Given the description of an element on the screen output the (x, y) to click on. 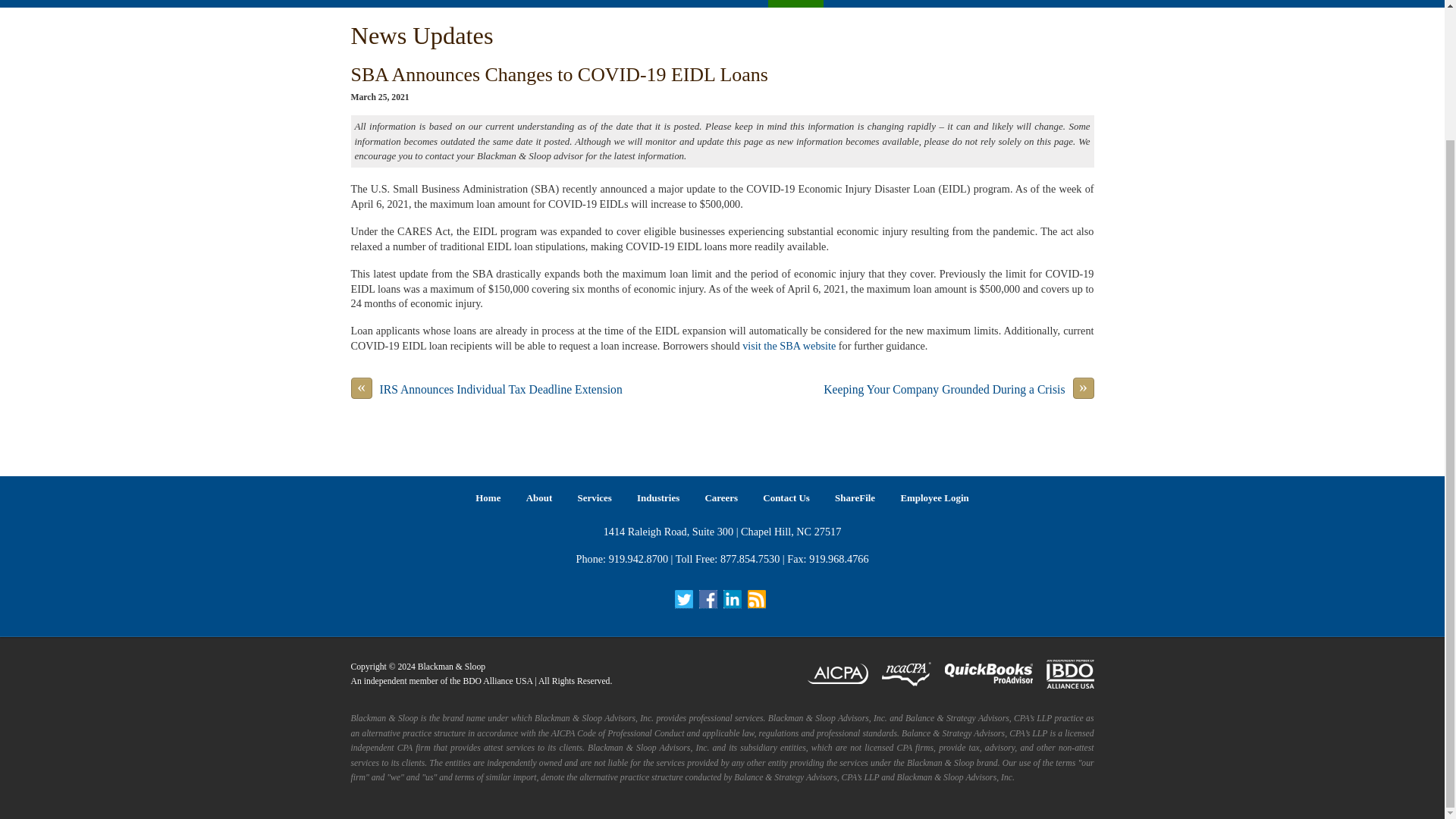
About (411, 3)
Home (370, 3)
Careers (621, 3)
Resources (568, 3)
Services (456, 3)
Industries (509, 3)
